Given the description of an element on the screen output the (x, y) to click on. 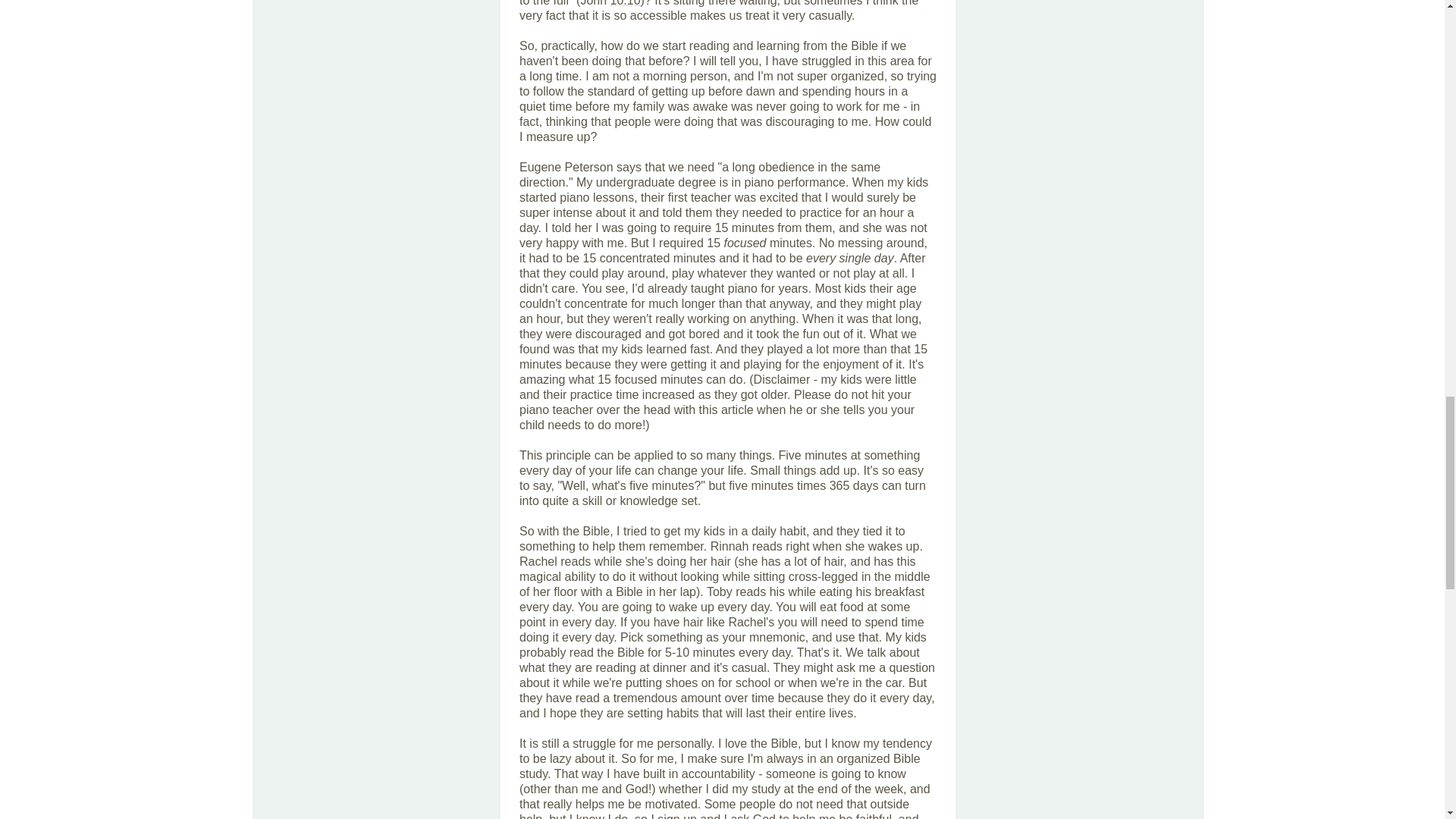
Skip to Content (216, 52)
